Given the description of an element on the screen output the (x, y) to click on. 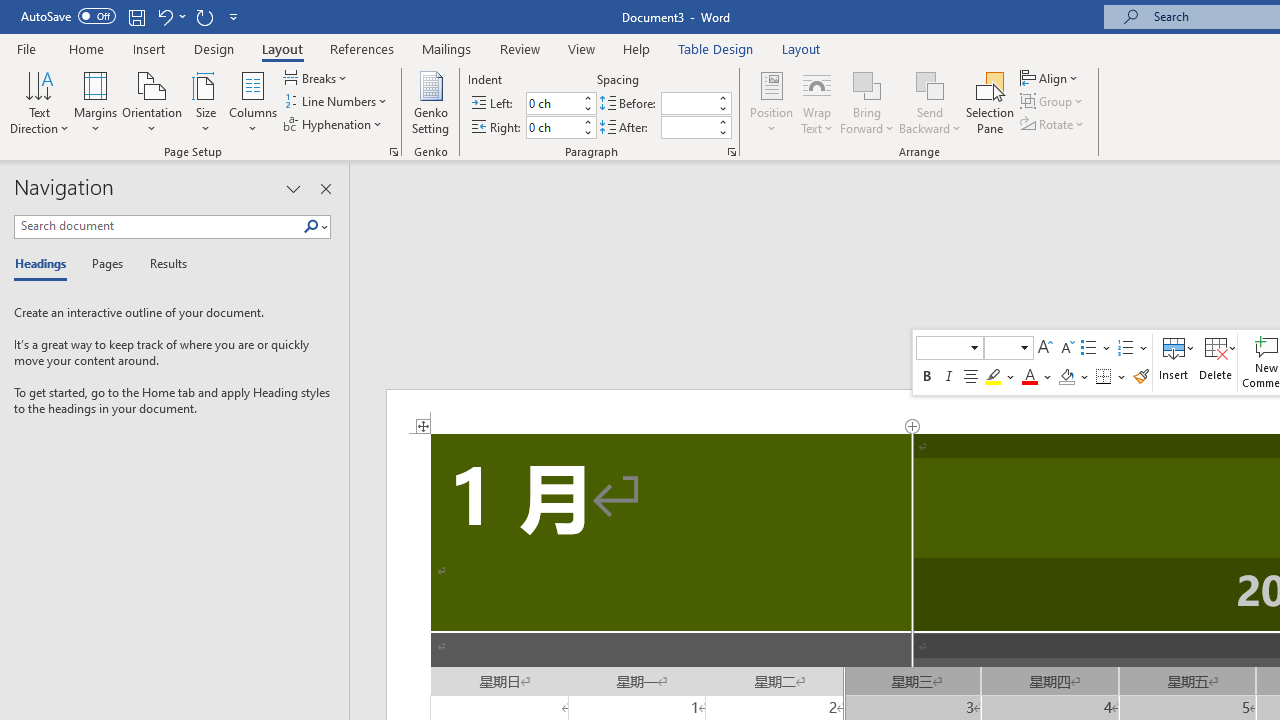
Wrap Text (817, 102)
Text Direction (39, 102)
Bring Forward (867, 84)
Delete (1215, 361)
Less (722, 132)
Class: NetUIAnchor (1215, 361)
